Given the description of an element on the screen output the (x, y) to click on. 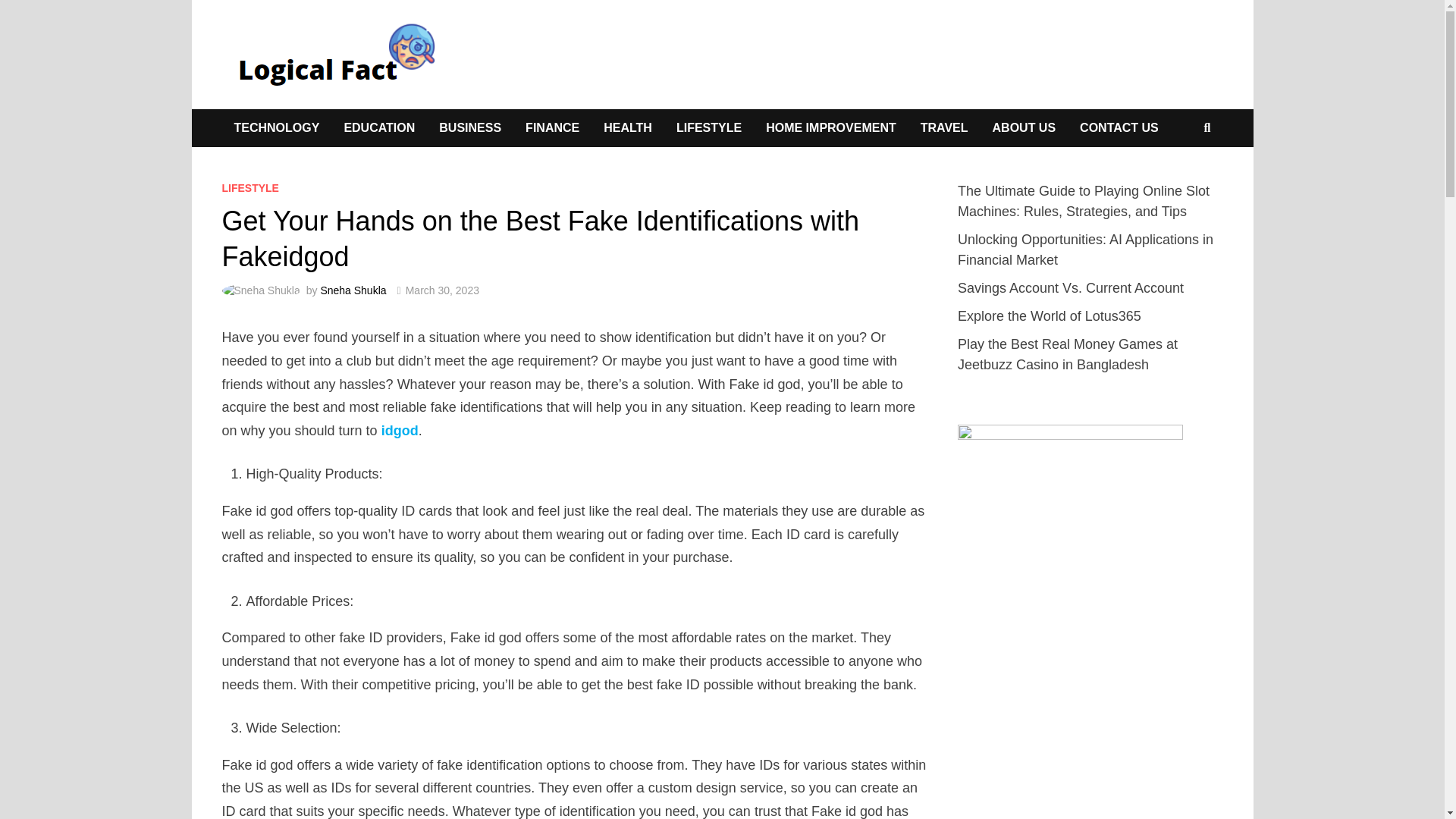
CONTACT US (1118, 127)
Sneha Shukla (352, 290)
idgod (400, 430)
EDUCATION (378, 127)
ABOUT US (1023, 127)
FINANCE (552, 127)
HOME IMPROVEMENT (831, 127)
BUSINESS (469, 127)
March 30, 2023 (442, 290)
TRAVEL (943, 127)
